Given the description of an element on the screen output the (x, y) to click on. 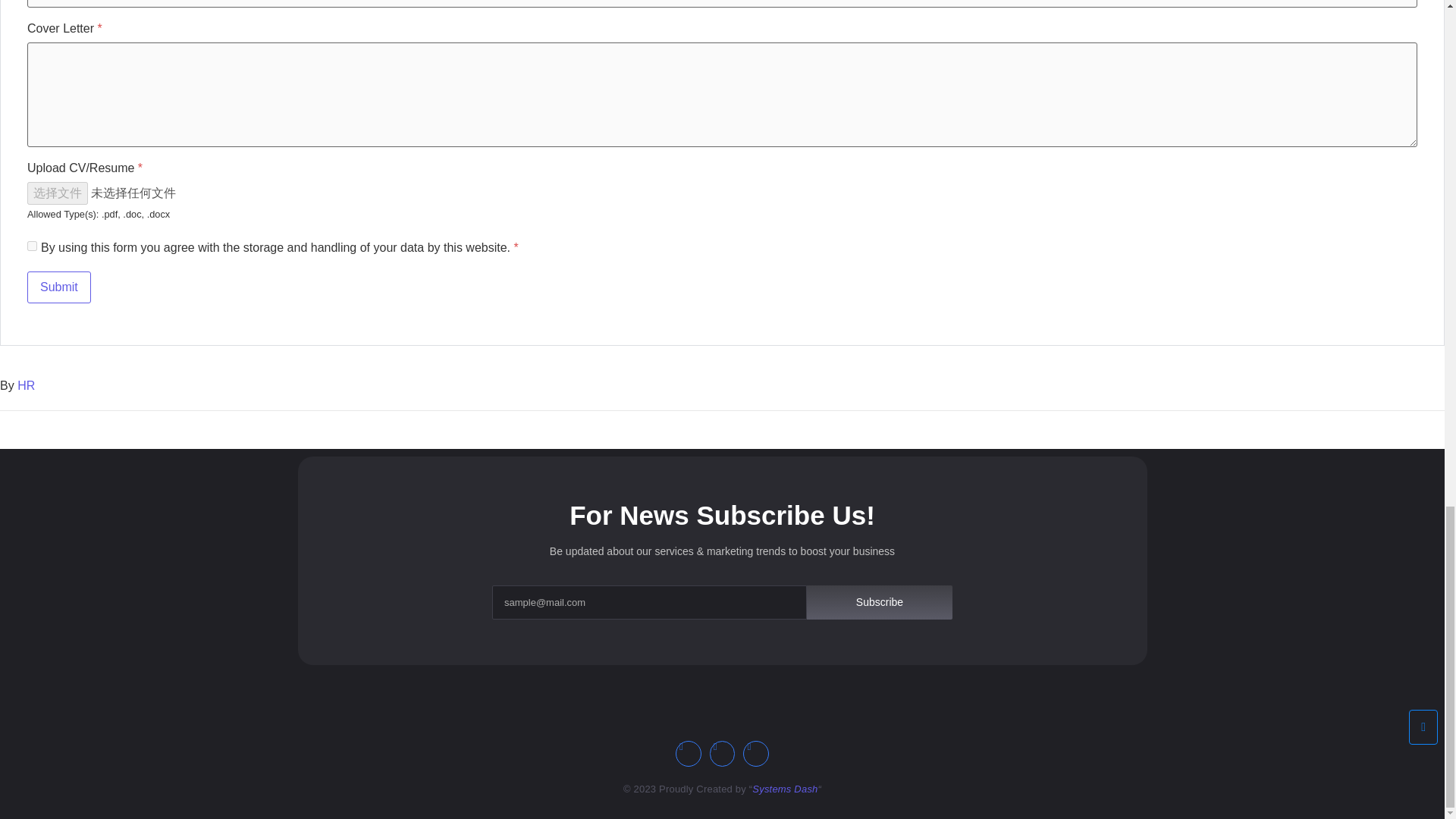
Posts by HR (25, 385)
Systems Dash (784, 788)
Submit (58, 287)
HR (25, 385)
Submit (58, 287)
Subscribe (879, 602)
yes (32, 245)
